Given the description of an element on the screen output the (x, y) to click on. 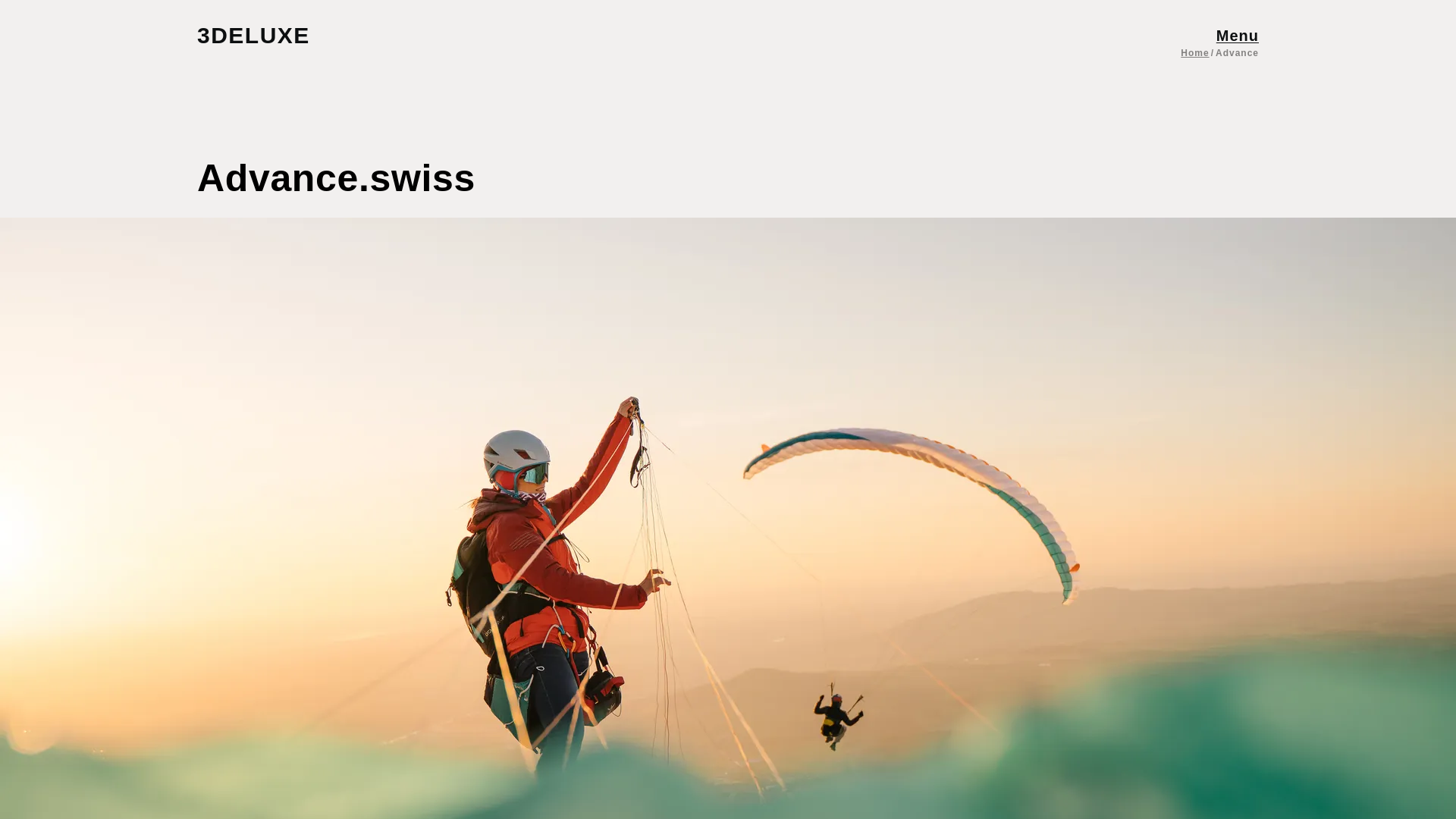
Menu (1237, 35)
3DELUXE (268, 35)
Home (1194, 52)
